Given the description of an element on the screen output the (x, y) to click on. 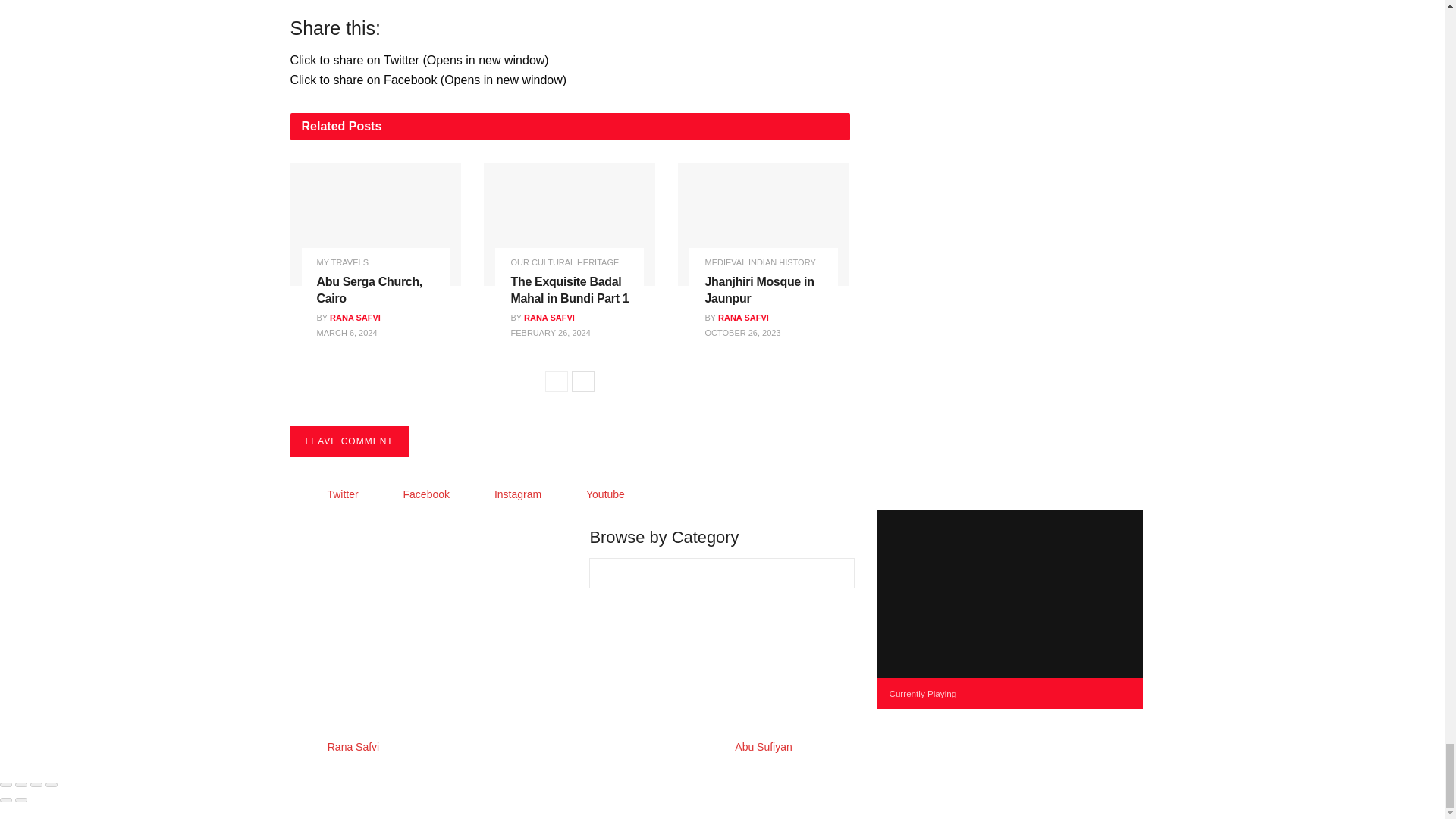
Click to share on Facebook (427, 79)
Next (583, 381)
Share (20, 784)
Toggle fullscreen (36, 784)
Previous (555, 381)
Abu Sufiyan (763, 746)
Click to share on Twitter (418, 60)
Rana Safvi - A blog Exploring Ganga Jamuni Tehzeeb of India (352, 746)
